Given the description of an element on the screen output the (x, y) to click on. 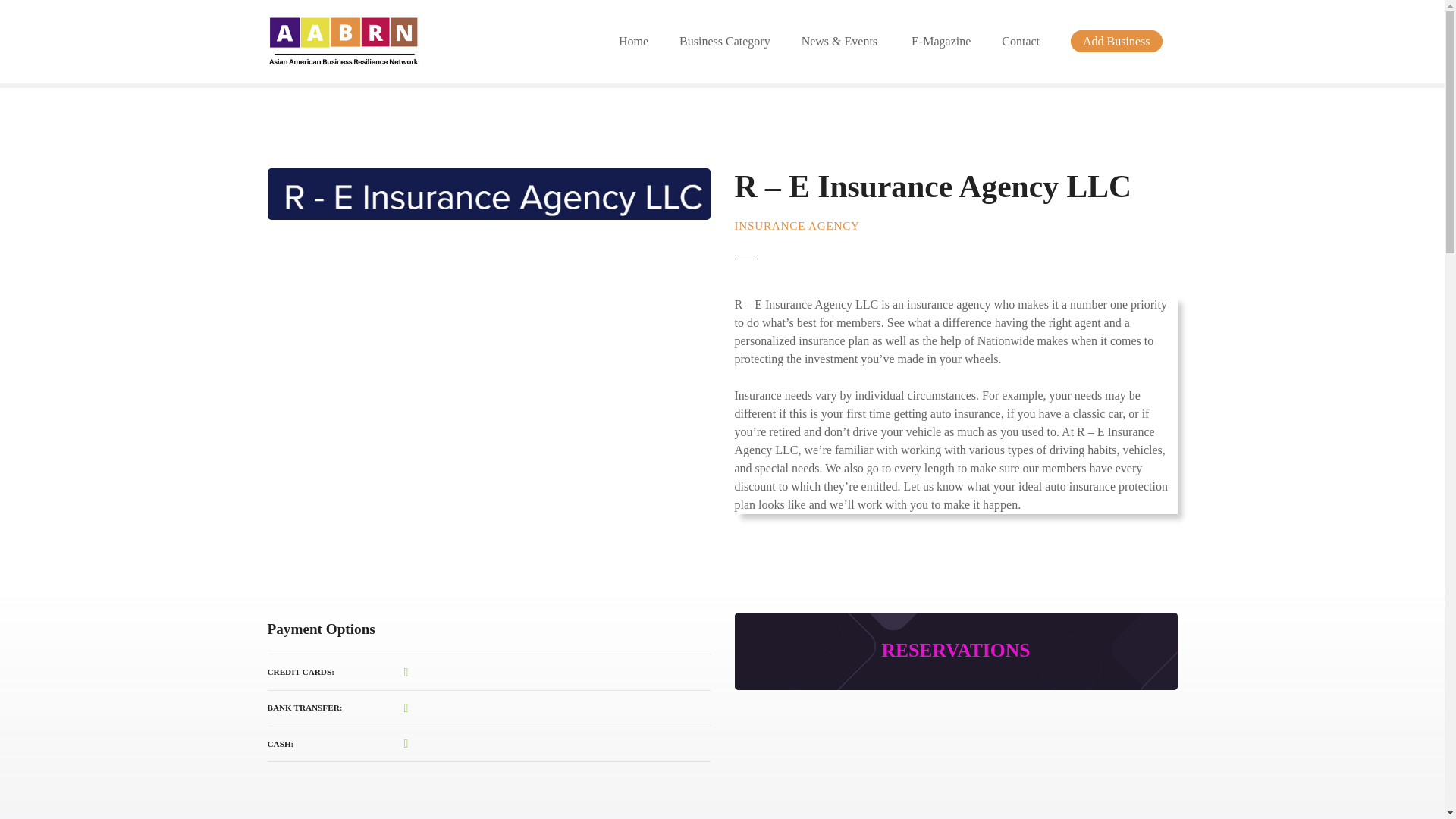
Home (633, 41)
Business Category (724, 41)
Contact (1020, 41)
Add Business (1115, 41)
E-Magazine (940, 41)
